Given the description of an element on the screen output the (x, y) to click on. 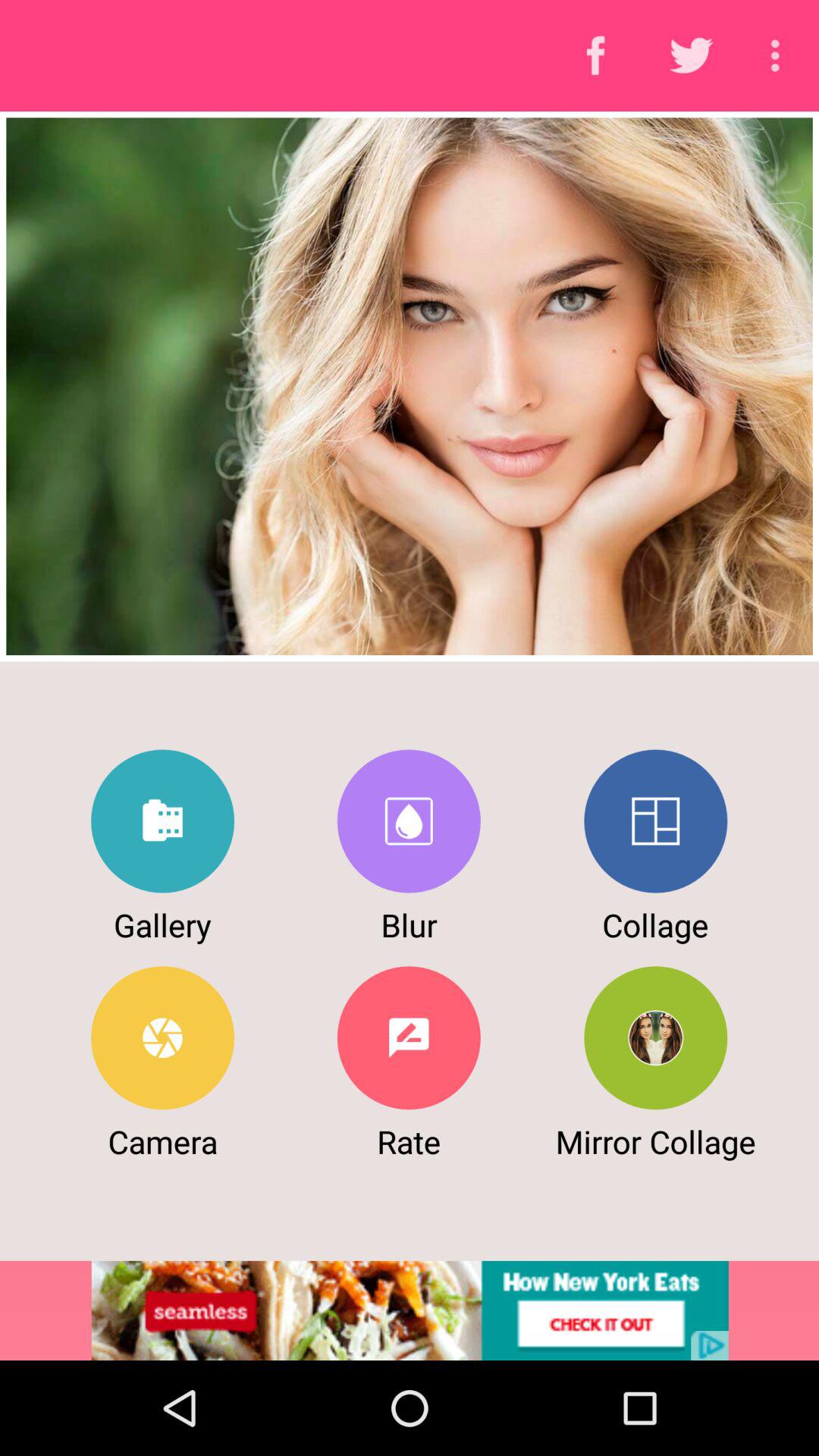
select blur option (408, 820)
